Given the description of an element on the screen output the (x, y) to click on. 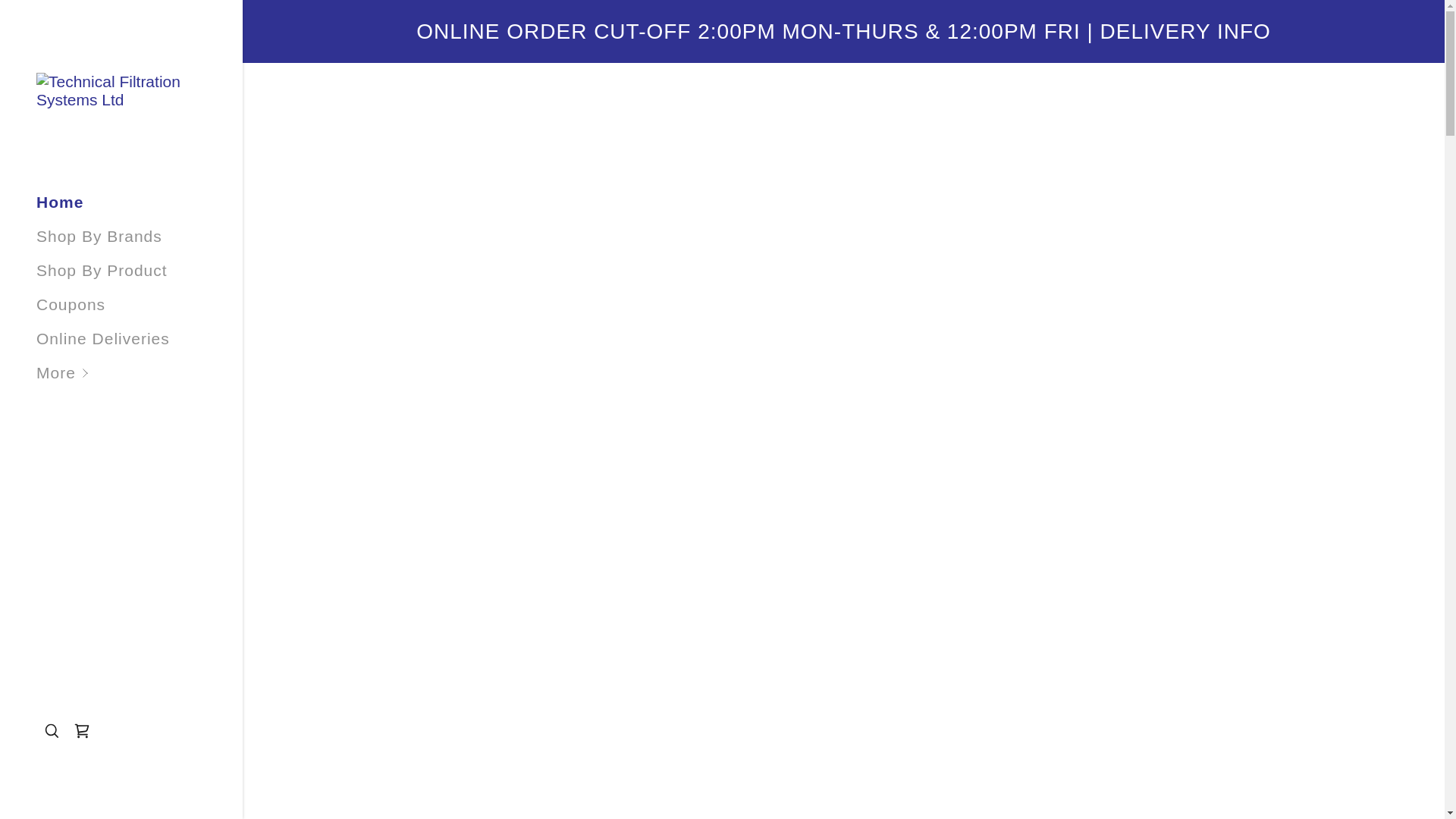
Home (59, 201)
Shop By Product (101, 270)
Technical Filtration Systems Ltd (121, 89)
More (139, 372)
Coupons (70, 303)
Shop By Brands (98, 235)
Online Deliveries (103, 338)
